Given the description of an element on the screen output the (x, y) to click on. 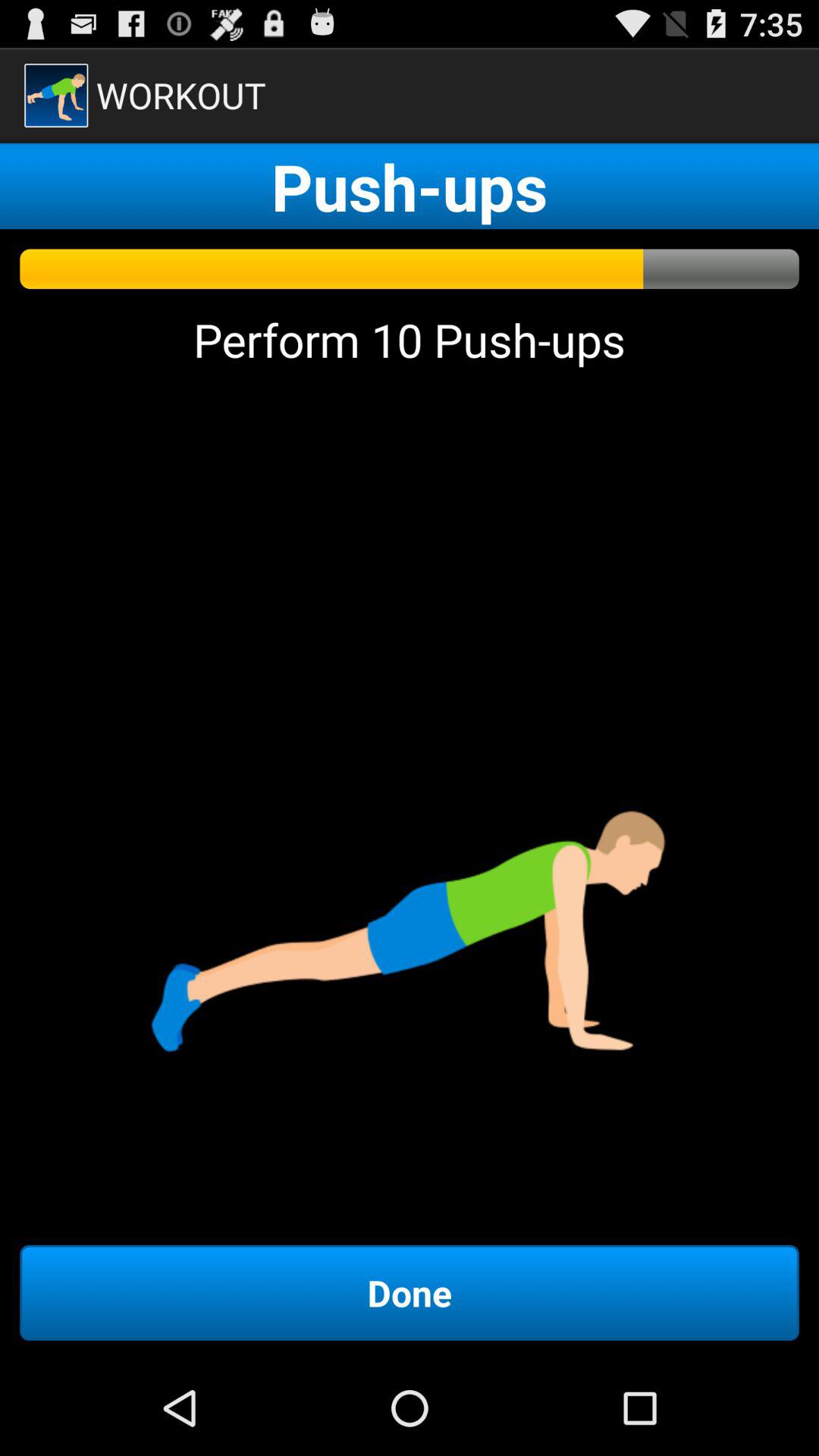
click done (409, 1292)
